Given the description of an element on the screen output the (x, y) to click on. 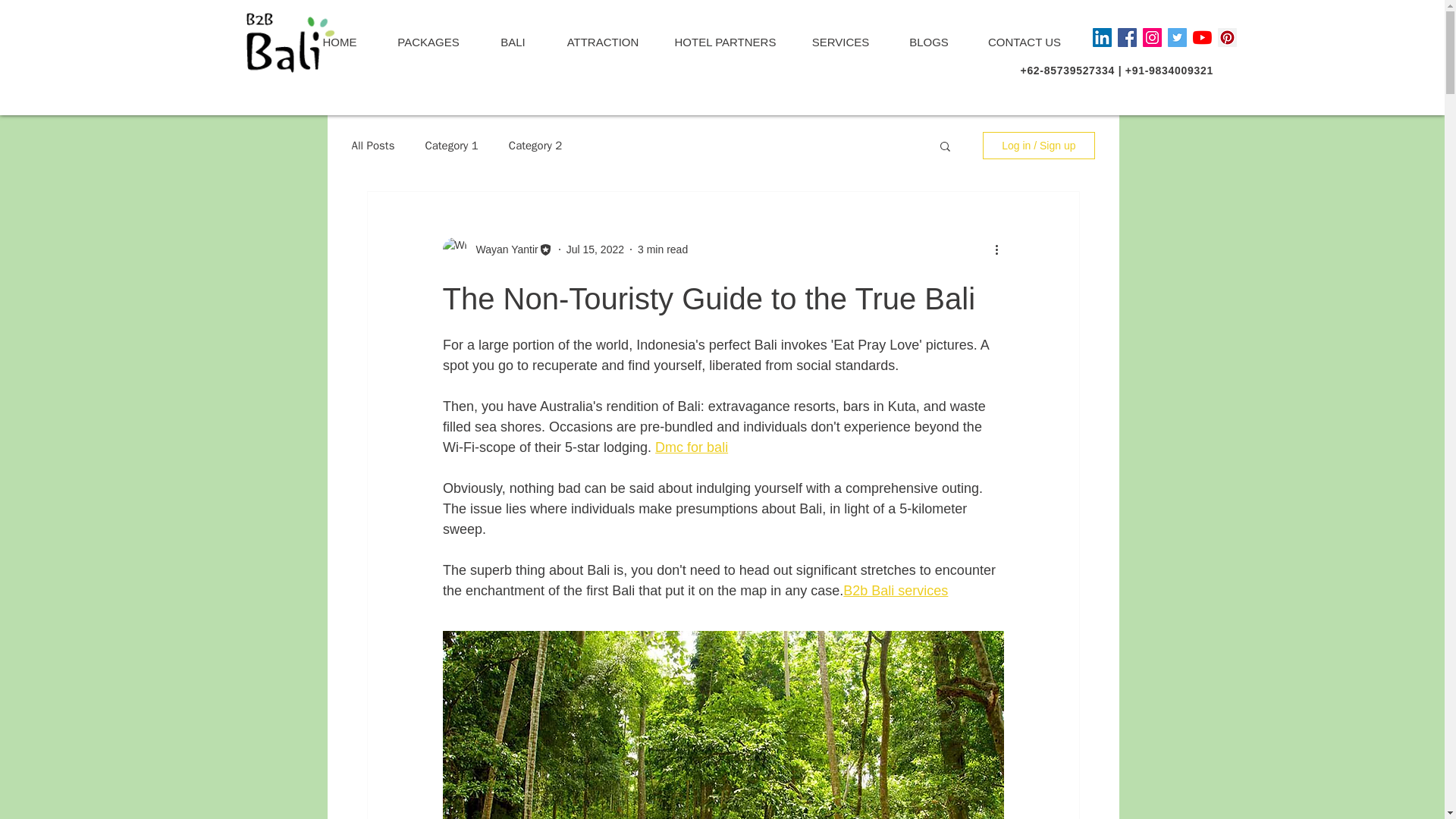
Category 1 (451, 145)
BALI (512, 41)
SERVICES (840, 41)
Wayan Yantir (502, 248)
All Posts (373, 145)
Category 2 (535, 145)
HOME (338, 41)
3 min read (662, 248)
HOTEL PARTNERS (725, 41)
Jul 15, 2022 (595, 248)
